Given the description of an element on the screen output the (x, y) to click on. 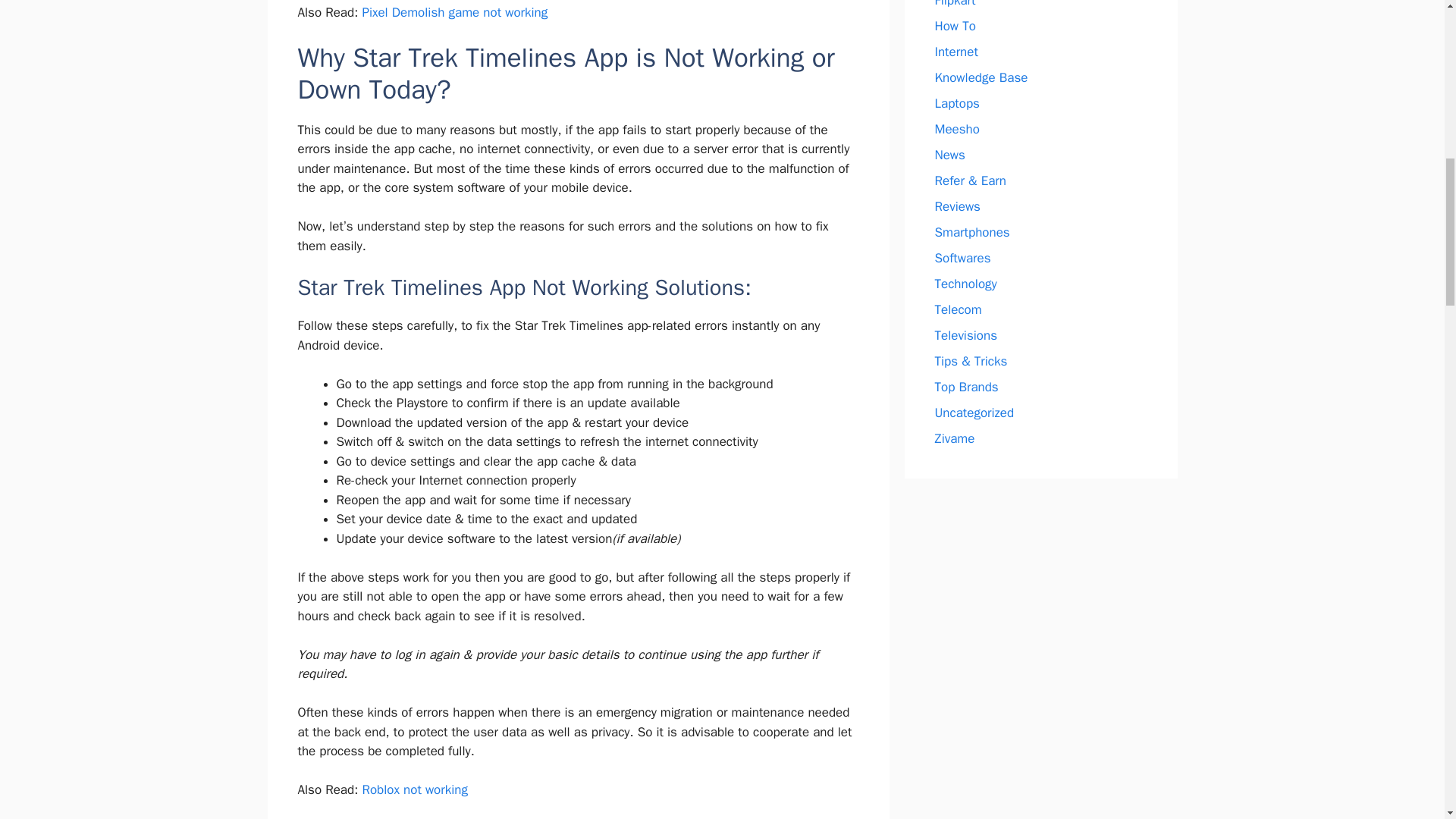
Roblox not working (414, 789)
Pixel Demolish game not working (454, 12)
